Given the description of an element on the screen output the (x, y) to click on. 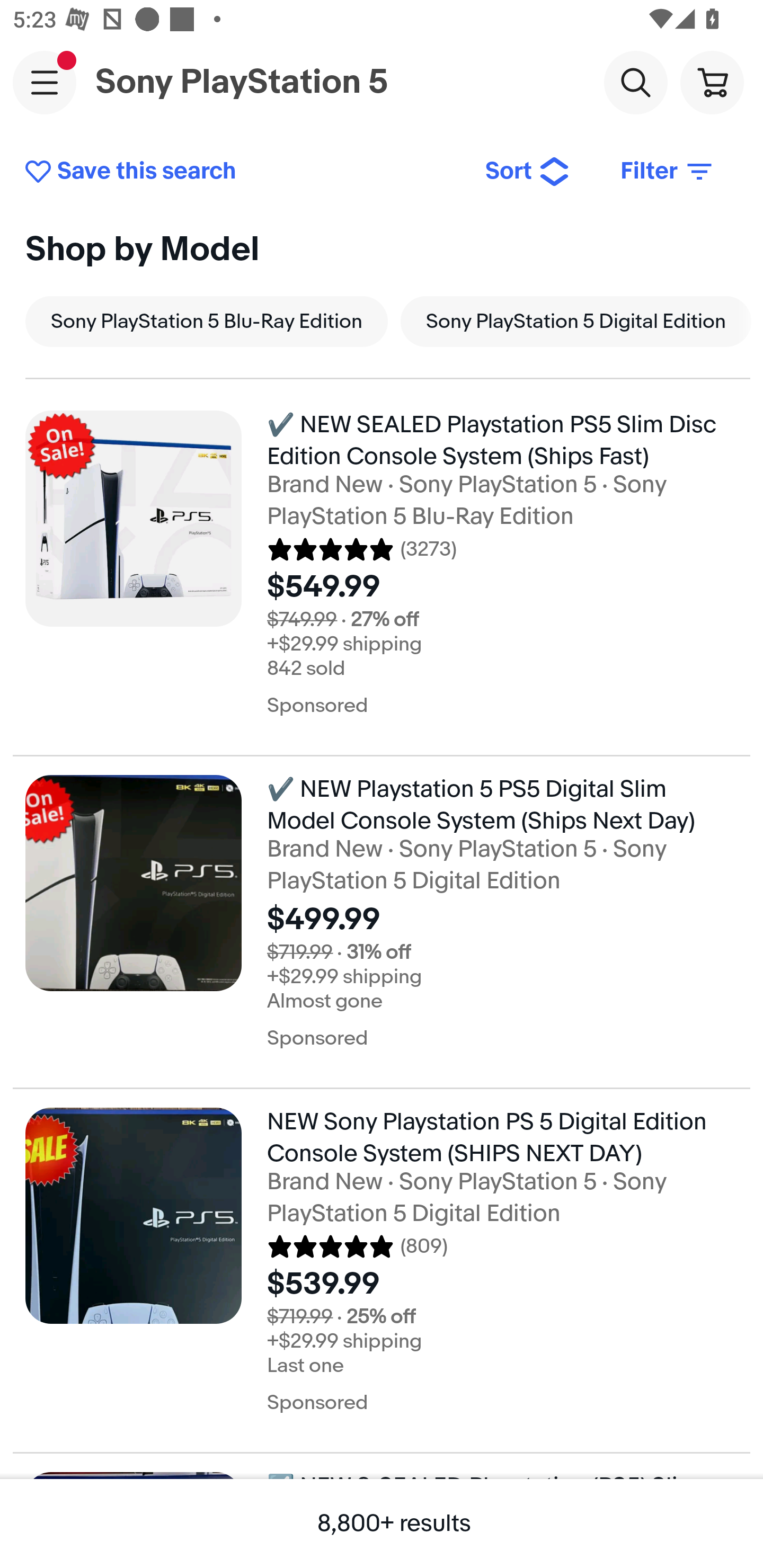
Main navigation, notification is pending, open (44, 82)
Search (635, 81)
Cart button shopping cart (711, 81)
Save this search (241, 171)
Sort (527, 171)
Filter (667, 171)
